Given the description of an element on the screen output the (x, y) to click on. 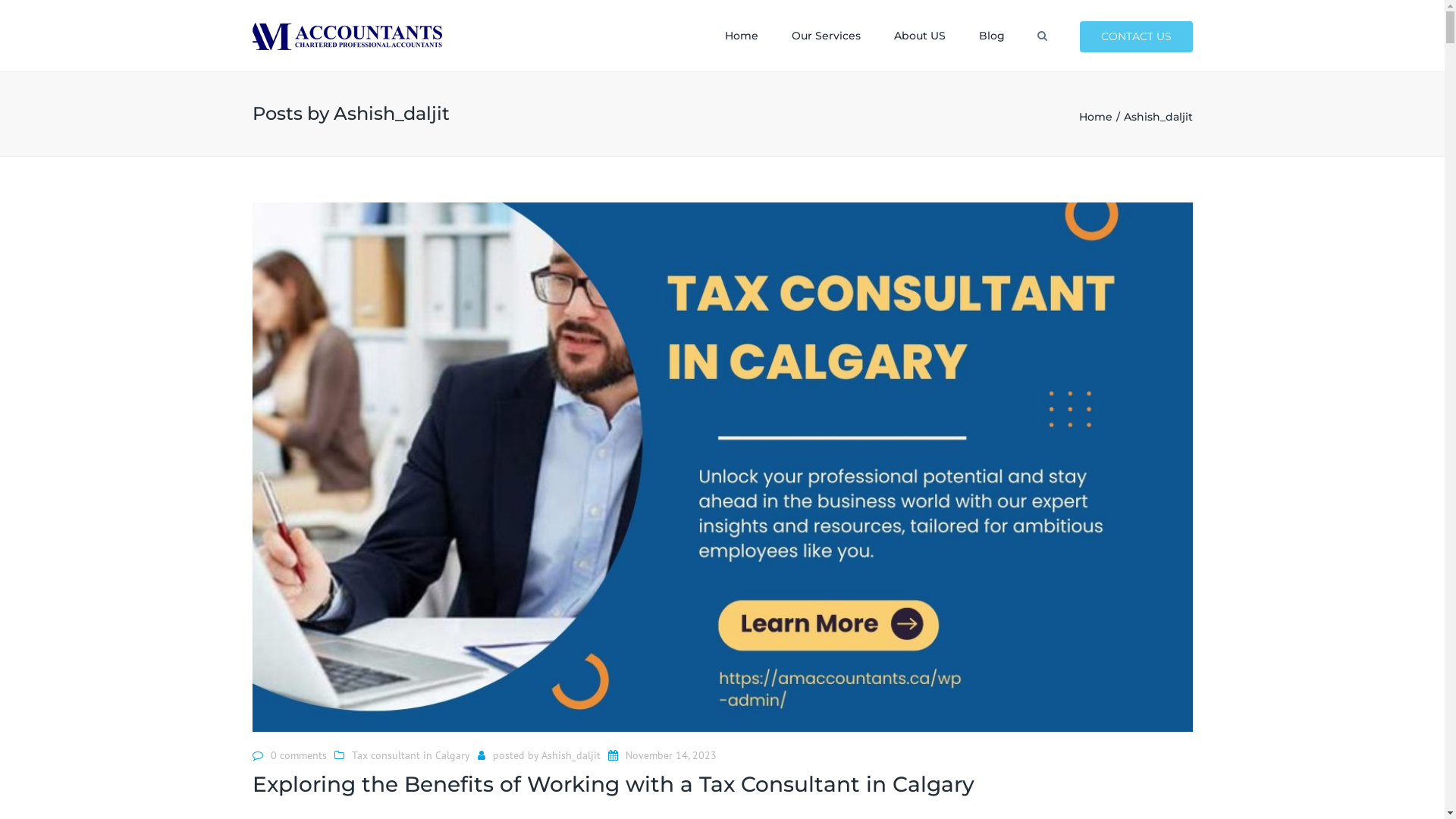
Home Element type: text (741, 35)
Our Services Element type: text (826, 35)
CONTACT US Element type: text (1135, 36)
Home Element type: text (1100, 116)
Search Element type: text (1042, 35)
Blog Element type: text (990, 35)
Ashish_daljit Element type: text (570, 755)
Tax consultant in Calgary Element type: text (410, 755)
About US Element type: text (918, 35)
0 comments Element type: text (297, 755)
